Given the description of an element on the screen output the (x, y) to click on. 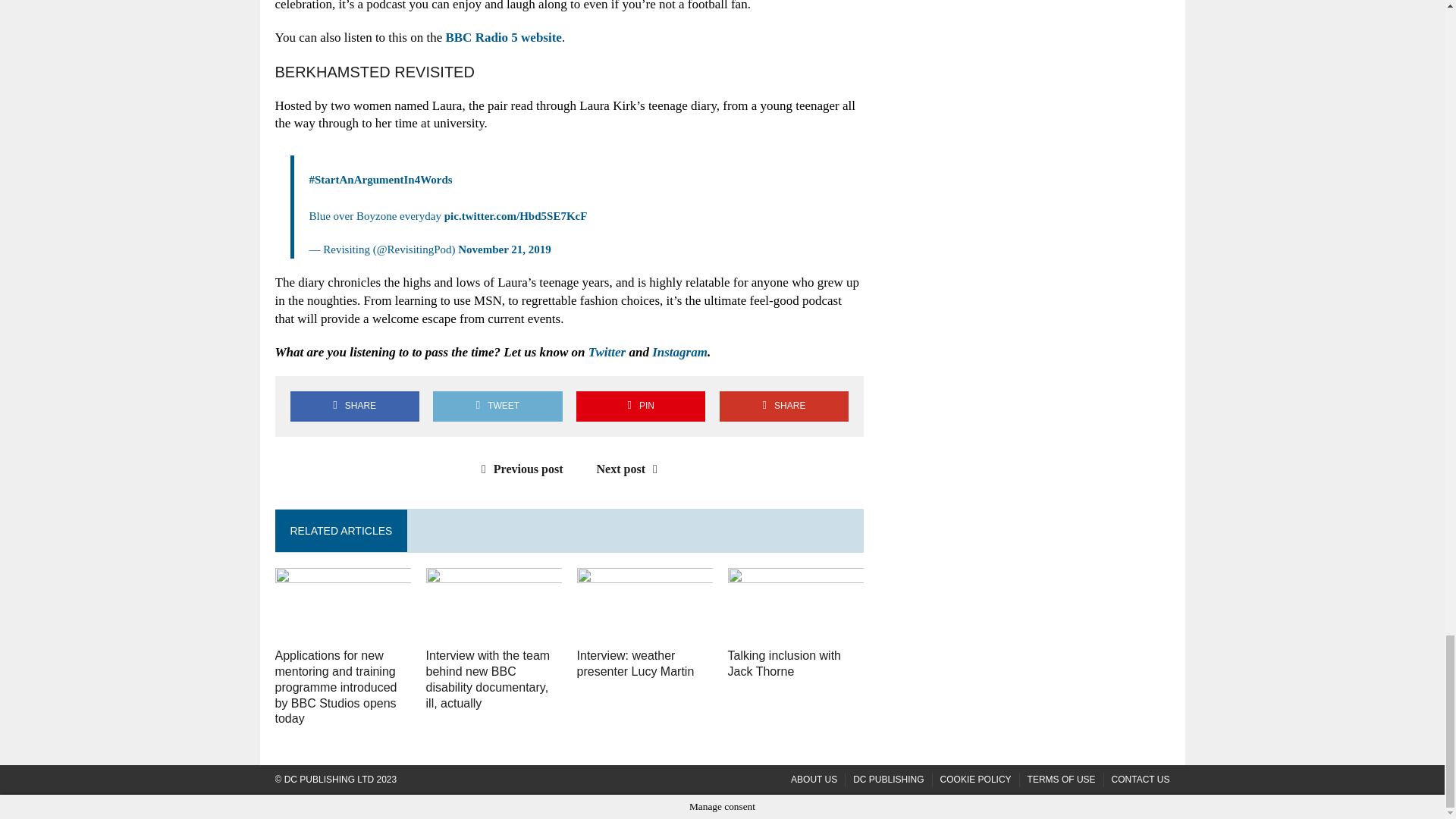
Share on Facebook (354, 405)
